Given the description of an element on the screen output the (x, y) to click on. 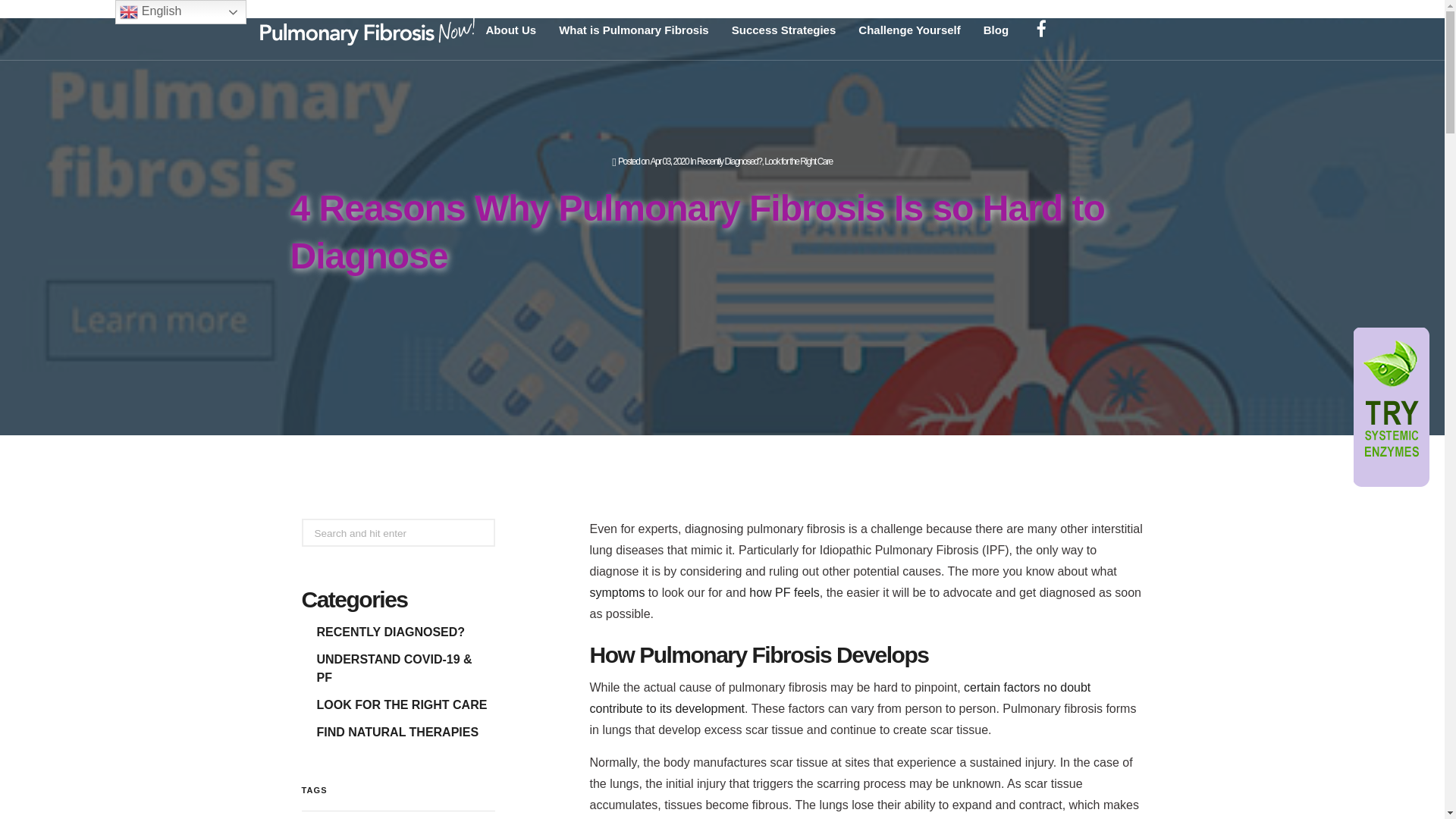
What is Pulmonary Fibrosis (633, 30)
RECENTLY DIAGNOSED? (390, 631)
Challenge Yourself (909, 30)
LOOK FOR THE RIGHT CARE (401, 704)
Recently Diagnosed? (729, 161)
FIND NATURAL THERAPIES (397, 731)
Look for the Right Care (798, 161)
About Us (511, 30)
Apr 03, 2020 (668, 161)
Success Strategies (783, 30)
